Given the description of an element on the screen output the (x, y) to click on. 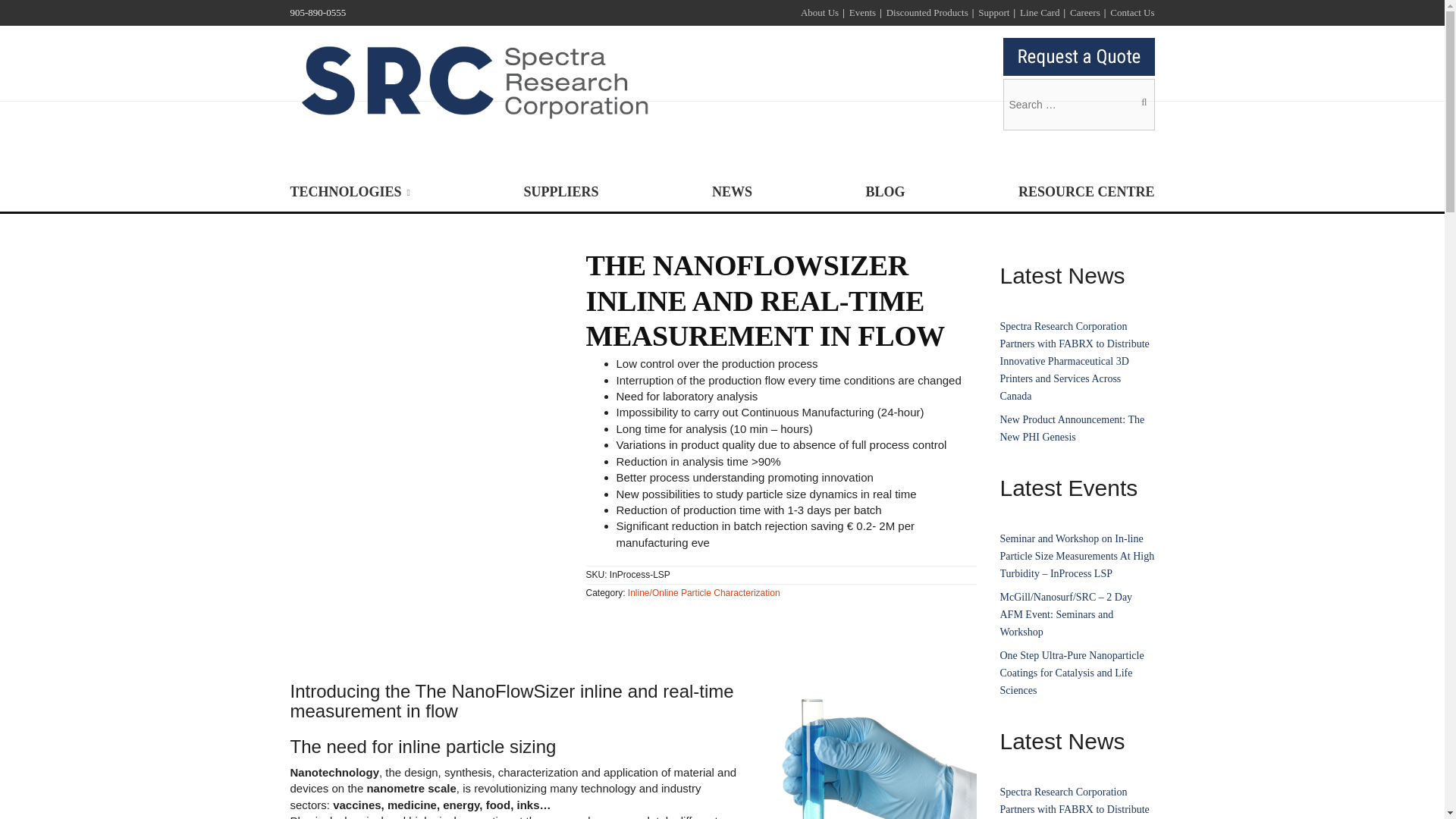
TECHNOLOGIES (349, 192)
Contact Us (1131, 12)
About Us (819, 12)
Events (862, 12)
Line Card (1039, 12)
Support (993, 12)
Discounted Products (927, 12)
Careers (1085, 12)
